Given the description of an element on the screen output the (x, y) to click on. 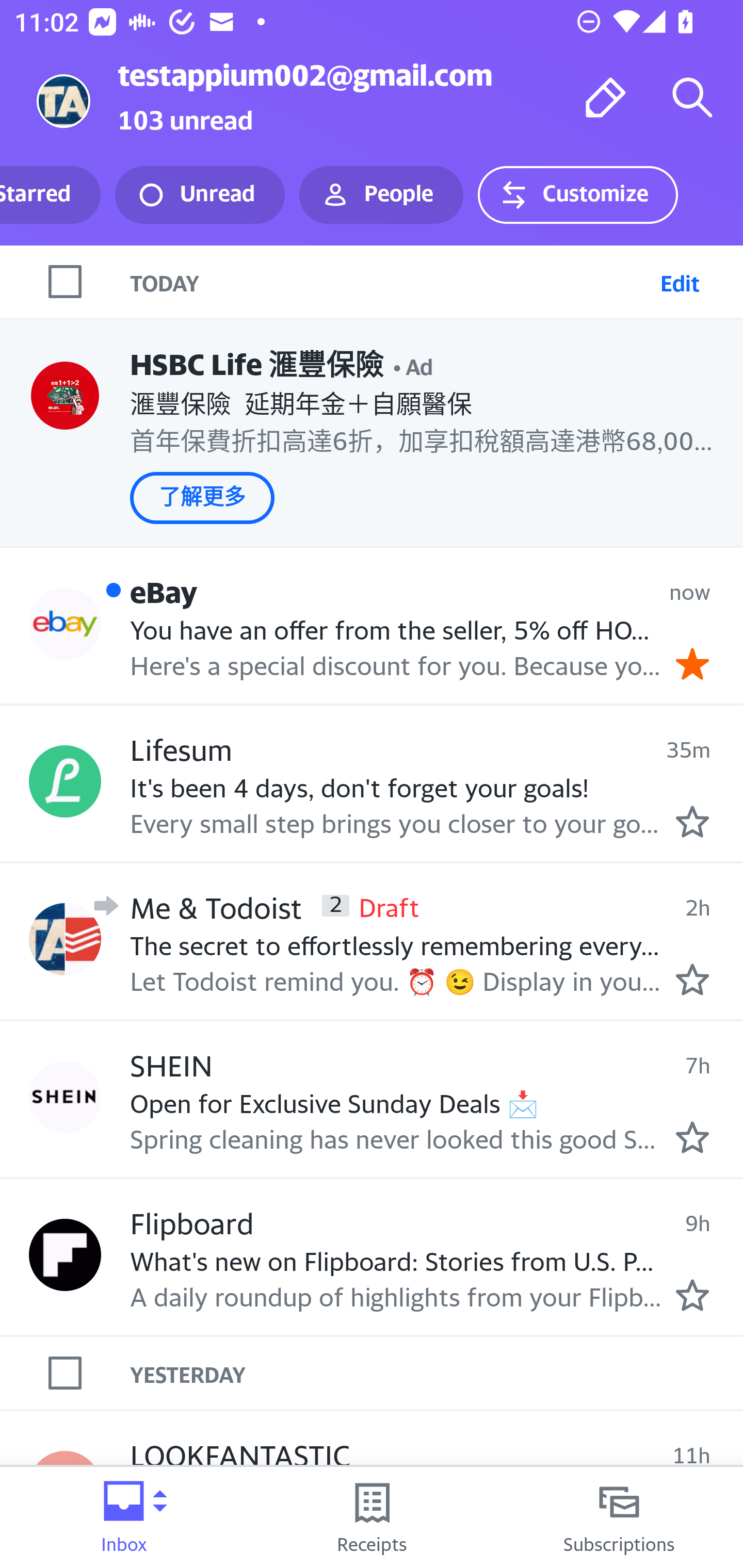
Compose (605, 97)
Search mail (692, 97)
Unread (199, 195)
People (381, 195)
Customize (577, 195)
TODAY (391, 281)
Edit Select emails (679, 281)
Profile
eBay (64, 624)
Remove star. (692, 664)
Profile
Lifesum (64, 780)
Mark as starred. (692, 821)
Profile
Me & Todoist (64, 939)
Mark as starred. (692, 979)
Profile
SHEIN (64, 1097)
Mark as starred. (692, 1137)
Profile
Flipboard (64, 1254)
Mark as starred. (692, 1294)
YESTERDAY (436, 1372)
Inbox Folder picker (123, 1517)
Receipts (371, 1517)
Subscriptions (619, 1517)
